Given the description of an element on the screen output the (x, y) to click on. 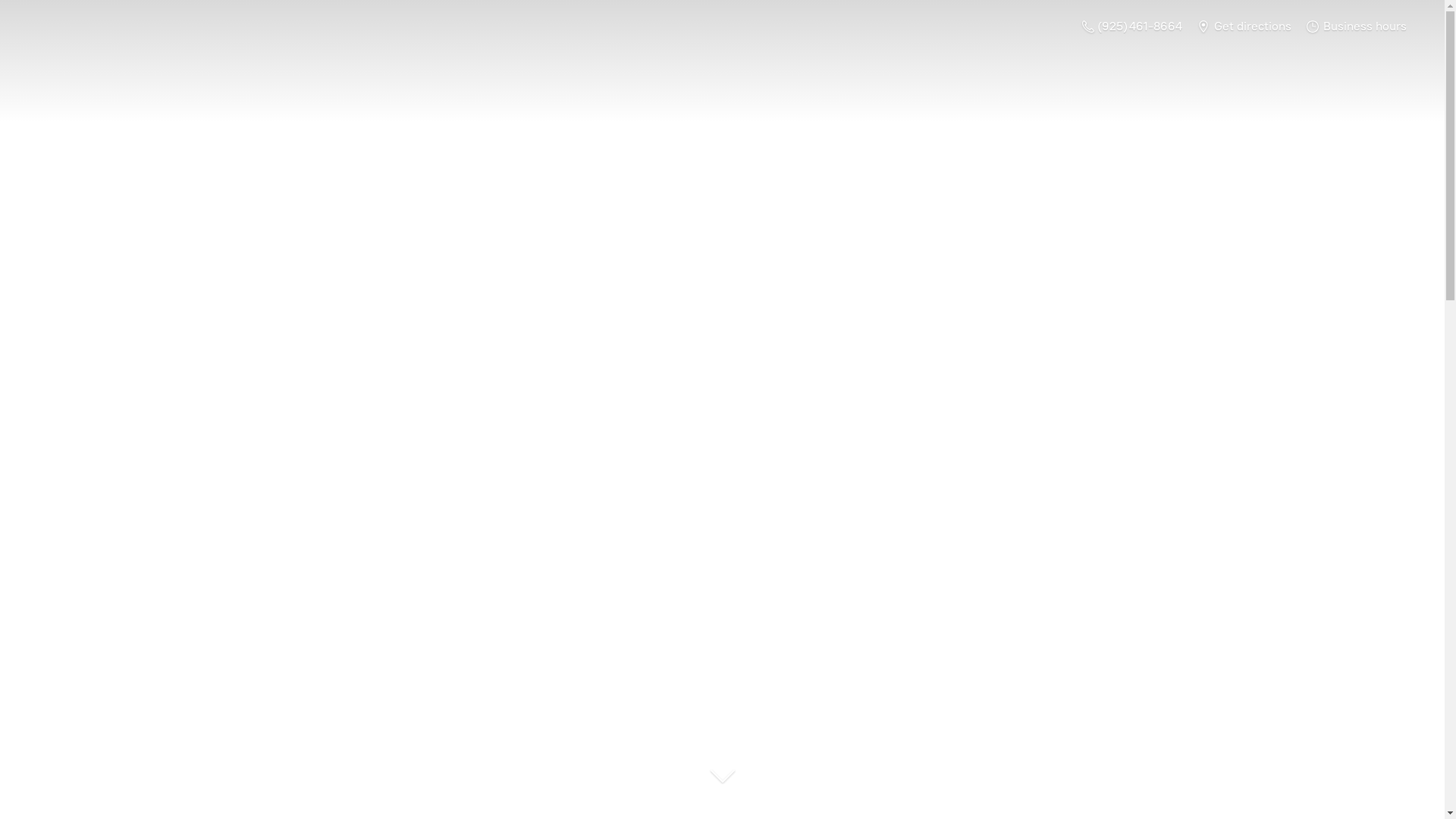
Get directions Element type: text (1244, 26)
Business hours Element type: text (1356, 26)
